Given the description of an element on the screen output the (x, y) to click on. 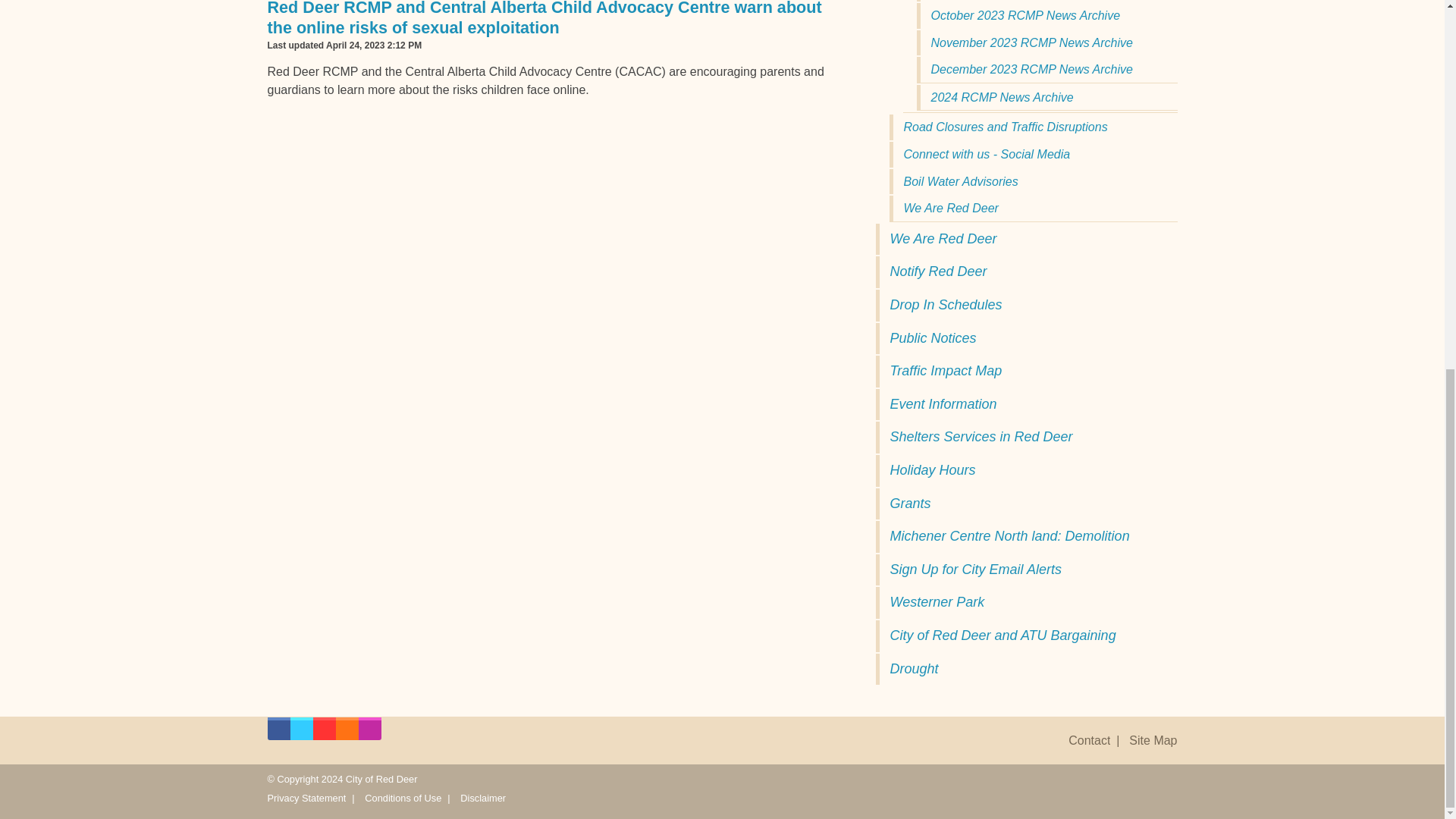
Connect with us - Social Media (1032, 154)
2024 RCMP News Archive (1045, 97)
Boil Water Advisories (1032, 181)
December 2023 RCMP News Archive (1045, 69)
November 2023 RCMP News Archive (1045, 43)
We Are Red Deer (1032, 208)
Road Closures and Traffic Disruptions (1032, 127)
October 2023 RCMP News Archive (1045, 15)
Open City of Red Deer Facebook Page (277, 732)
Open City of Red Deer Instagram (369, 732)
Open City of Red Deer RSS Feeds (346, 732)
We Are Red Deer (1025, 239)
Open City of Red Deer YouTube Channel (323, 732)
